Given the description of an element on the screen output the (x, y) to click on. 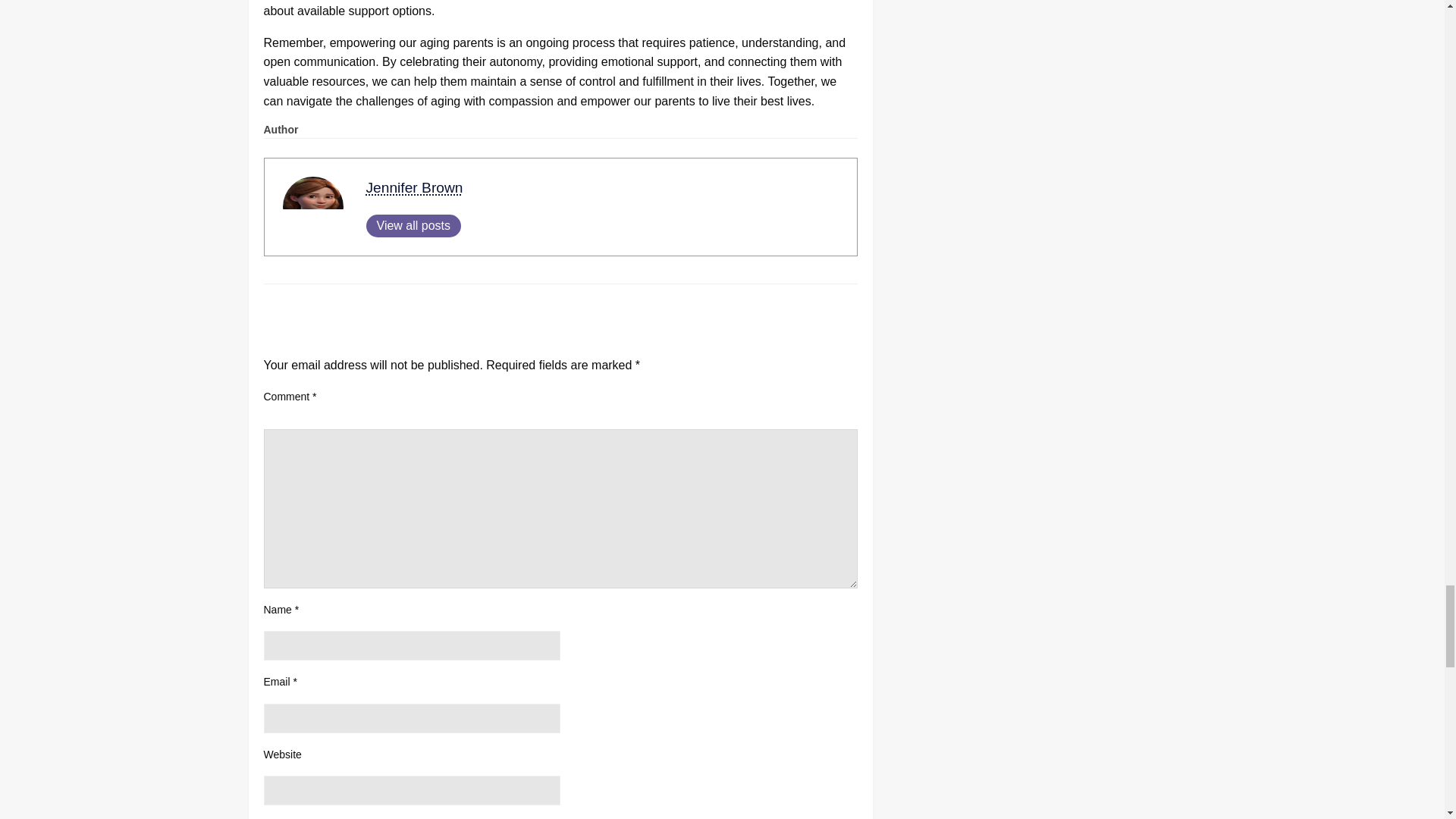
View all posts (413, 225)
Jennifer Brown (414, 187)
